Given the description of an element on the screen output the (x, y) to click on. 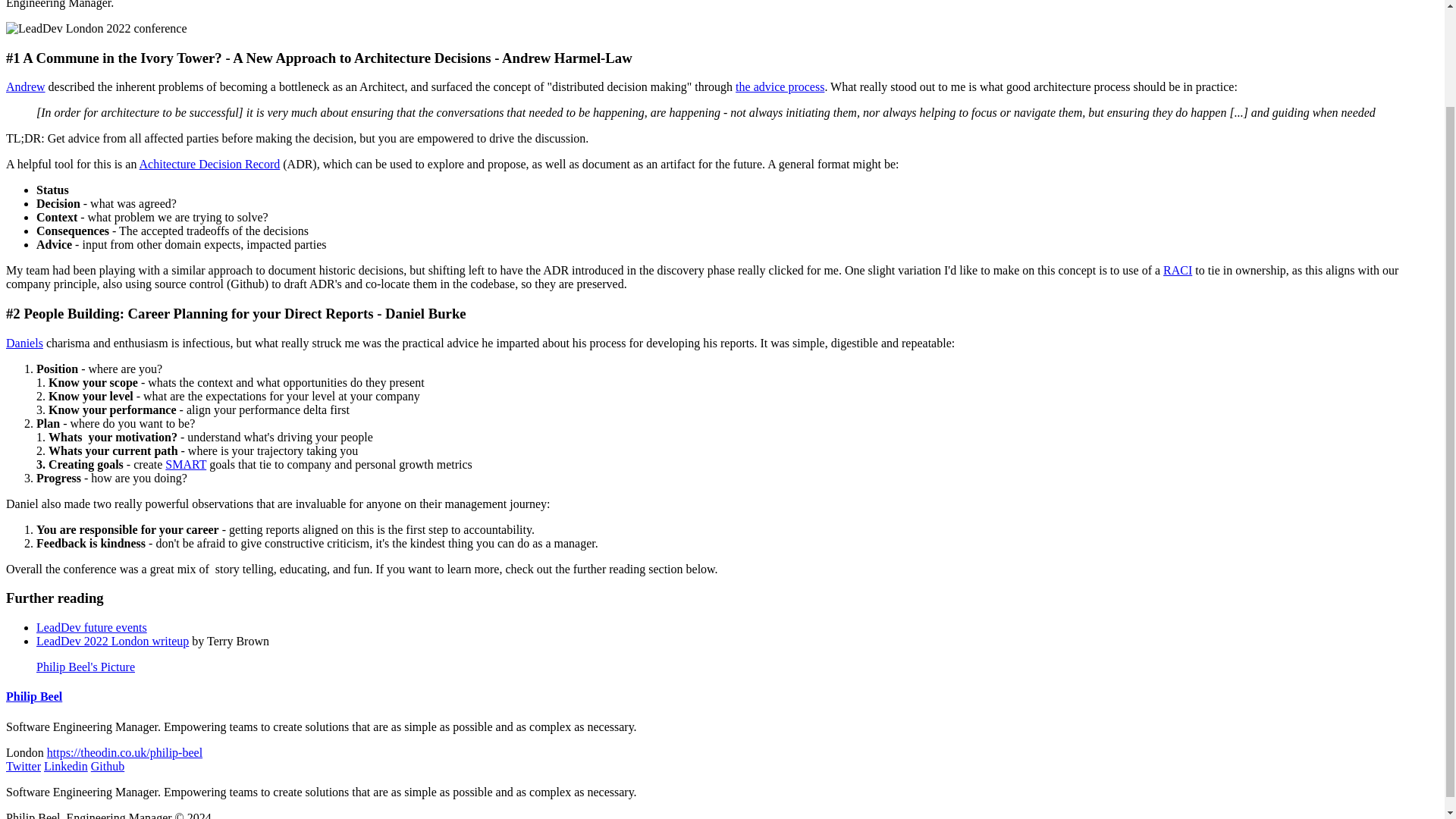
the advice process (779, 86)
LeadDev 2022 London writeup (112, 640)
Linkedin (65, 766)
Twitter (22, 766)
Philip Beel's Picture (85, 666)
Andrew (25, 86)
RACI (1177, 269)
Philip Beel (33, 696)
SMART (185, 463)
Github (106, 766)
Achitecture Decision Record (210, 164)
LeadDev future events (91, 626)
Daniels (24, 342)
